Given the description of an element on the screen output the (x, y) to click on. 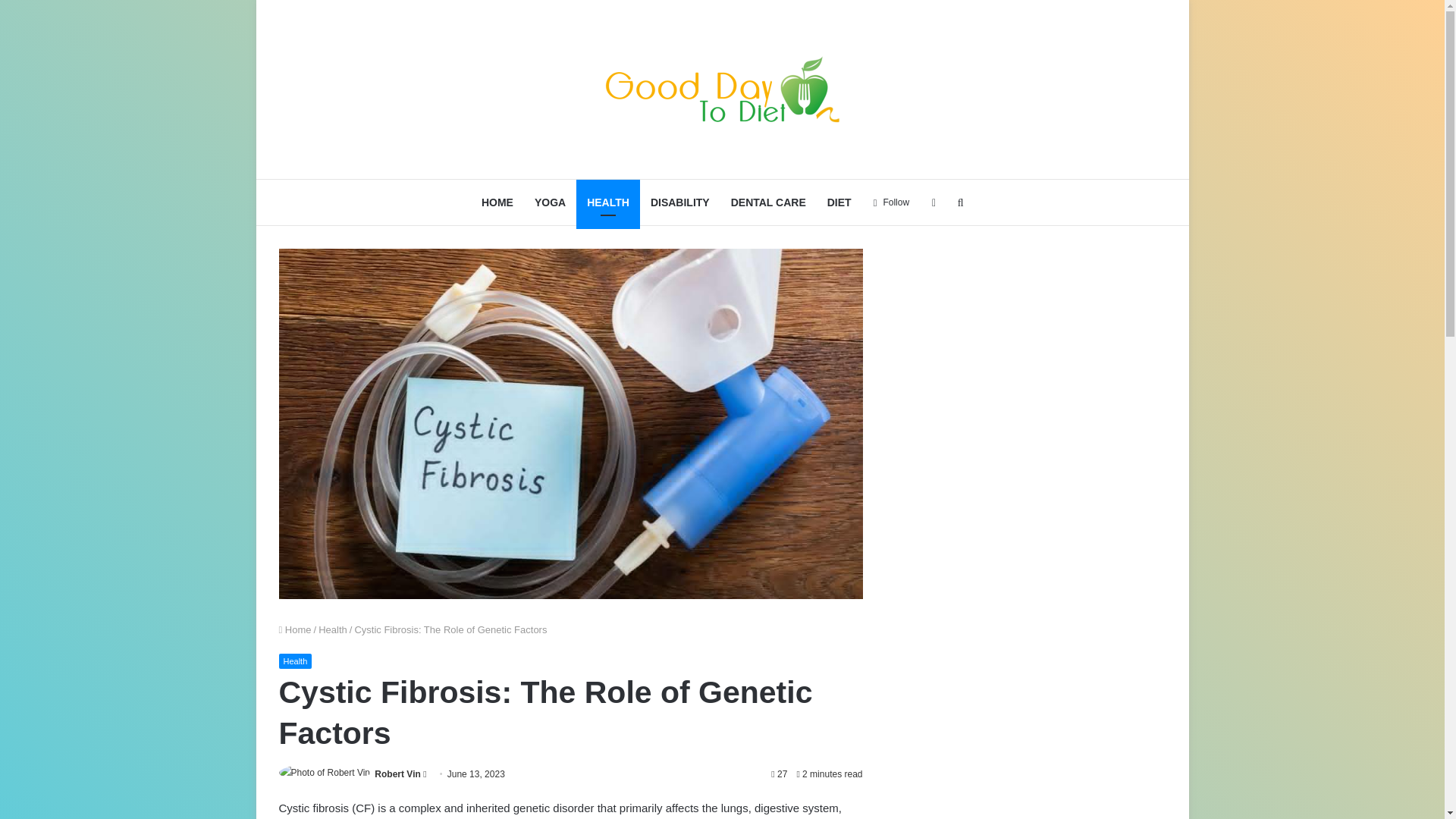
Home (295, 629)
Health (332, 629)
Robert Vin (397, 774)
DENTAL CARE (768, 202)
good day diet (721, 89)
Follow (890, 202)
Search for (960, 202)
DIET (838, 202)
YOGA (550, 202)
DISABILITY (680, 202)
HEALTH (608, 202)
Sidebar (933, 202)
HOME (497, 202)
Robert Vin (397, 774)
Health (296, 661)
